Given the description of an element on the screen output the (x, y) to click on. 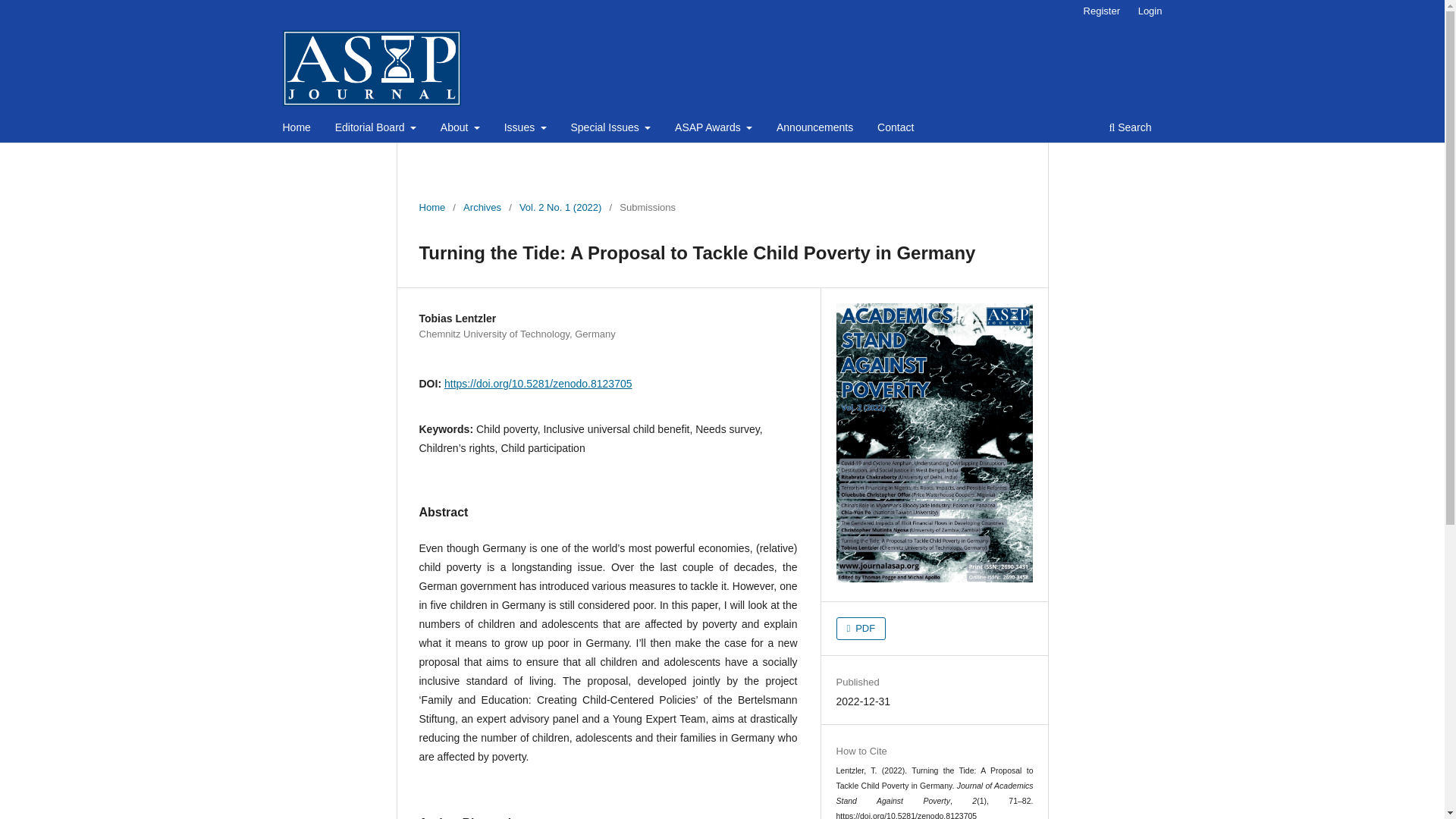
Archives (481, 207)
Login (1150, 11)
Contact (895, 129)
Special Issues (610, 129)
Search (1129, 129)
PDF (860, 628)
ASAP Awards (713, 129)
Announcements (815, 129)
Editorial Board (376, 129)
Home (296, 129)
Register (1100, 11)
About (459, 129)
Issues (525, 129)
Home (432, 207)
